Given the description of an element on the screen output the (x, y) to click on. 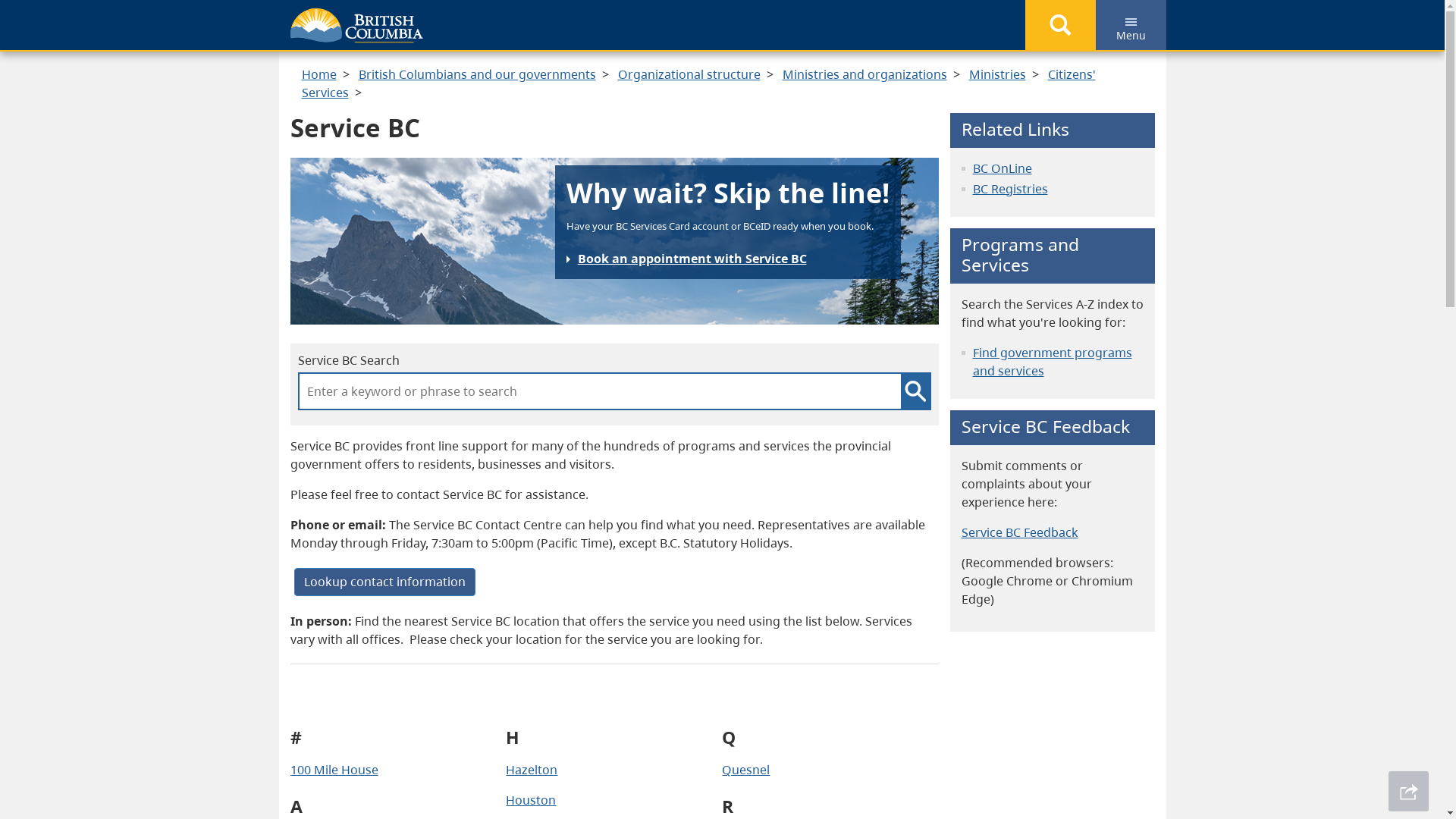
Citizens' Services Element type: text (698, 82)
Menu Element type: text (1130, 25)
BC Registries Element type: text (1009, 188)
Book an appointment with Service BC Element type: text (685, 258)
Home Element type: text (318, 73)
Find government programs and services Element type: text (1051, 361)
Hazelton Element type: text (531, 769)
Quesnel Element type: text (745, 769)
Houston Element type: text (530, 799)
Ministries Element type: text (997, 73)
Share This Page Element type: hover (1408, 791)
Organizational structure Element type: text (688, 73)
Government of B.C. Element type: hover (355, 25)
Service BC Feedback Element type: text (1019, 532)
100 Mile House Element type: text (333, 769)
Lookup contact information Element type: text (384, 581)
BC OnLine Element type: text (1001, 168)
Ministries and organizations Element type: text (864, 73)
British Columbians and our governments Element type: text (476, 73)
